Given the description of an element on the screen output the (x, y) to click on. 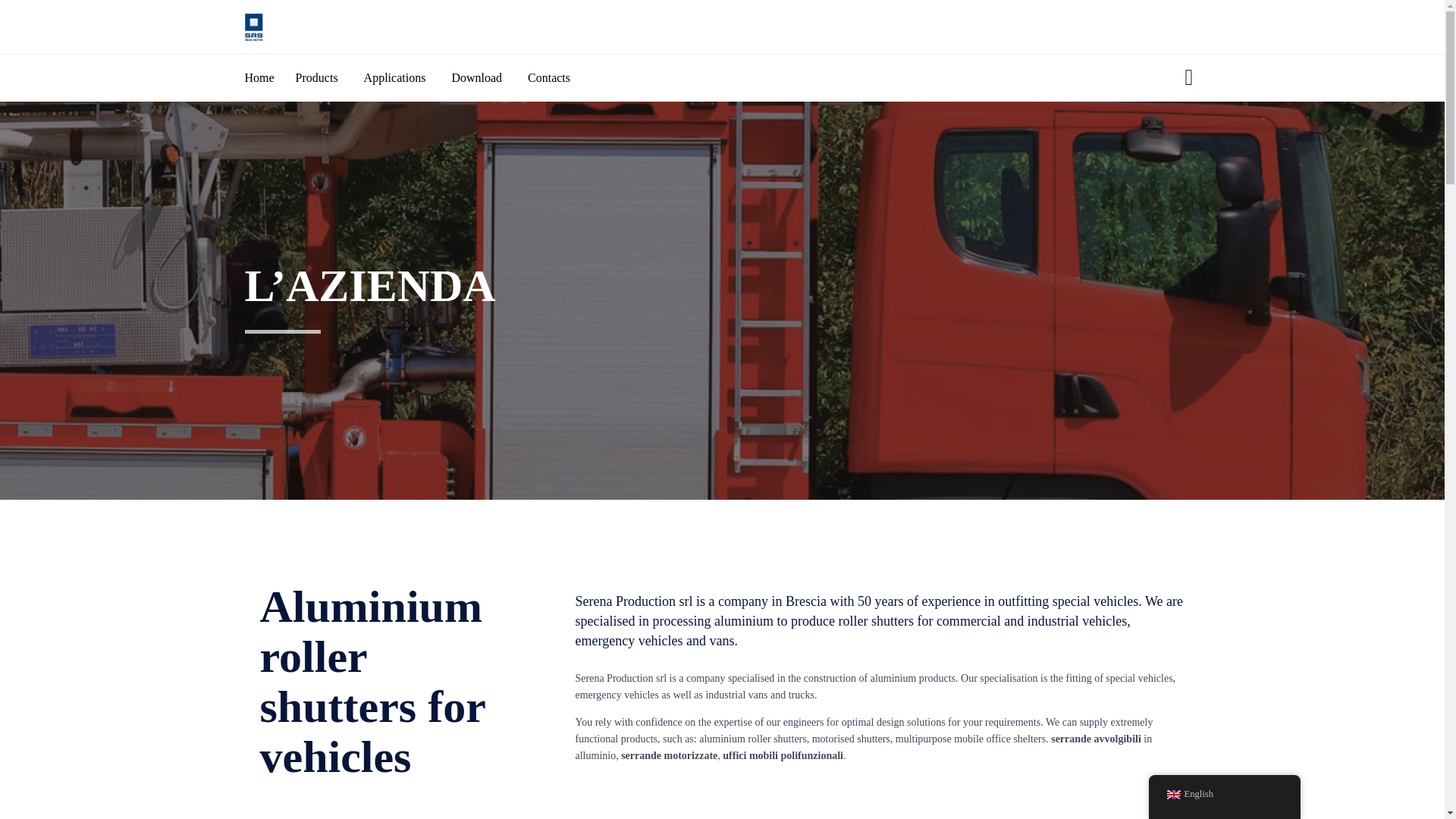
Download (489, 77)
Products (329, 77)
Home (269, 77)
English (1172, 794)
Applications (407, 77)
Contacts (561, 77)
